Given the description of an element on the screen output the (x, y) to click on. 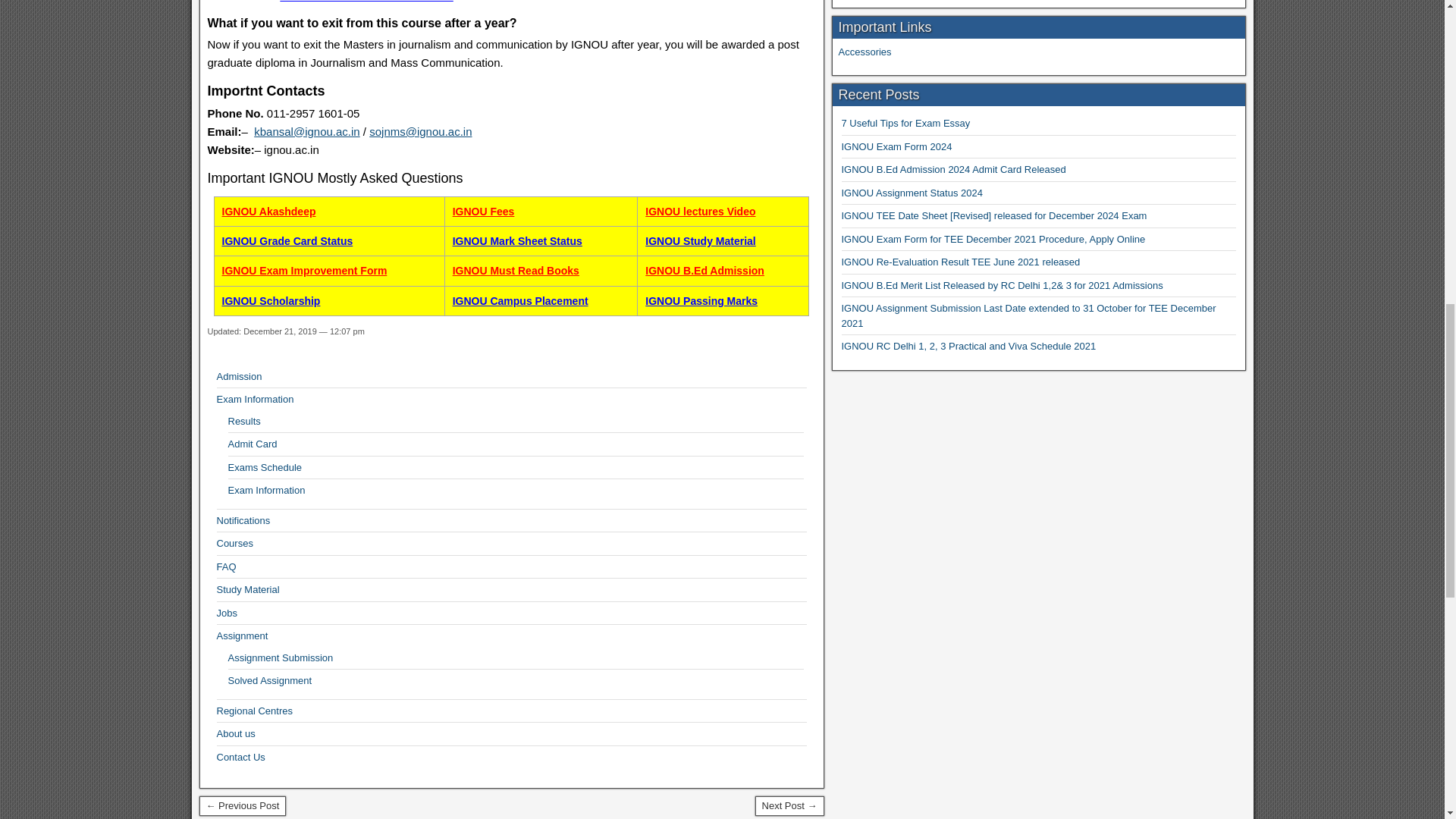
IGNOU Must Read Books (515, 270)
IGNOU Exam Improvement Form (304, 270)
IGNOU lectures Video (700, 211)
IGNOU Study Material (700, 241)
IGNOU Grade Card Status (287, 241)
IGNOU Akashdeep (268, 211)
IGNOU Fees (483, 211)
IGNOU Mark Sheet Status (517, 241)
IGNOU MBA Admission all details  (365, 1)
IGNOU B.Ed Admission (704, 270)
